Given the description of an element on the screen output the (x, y) to click on. 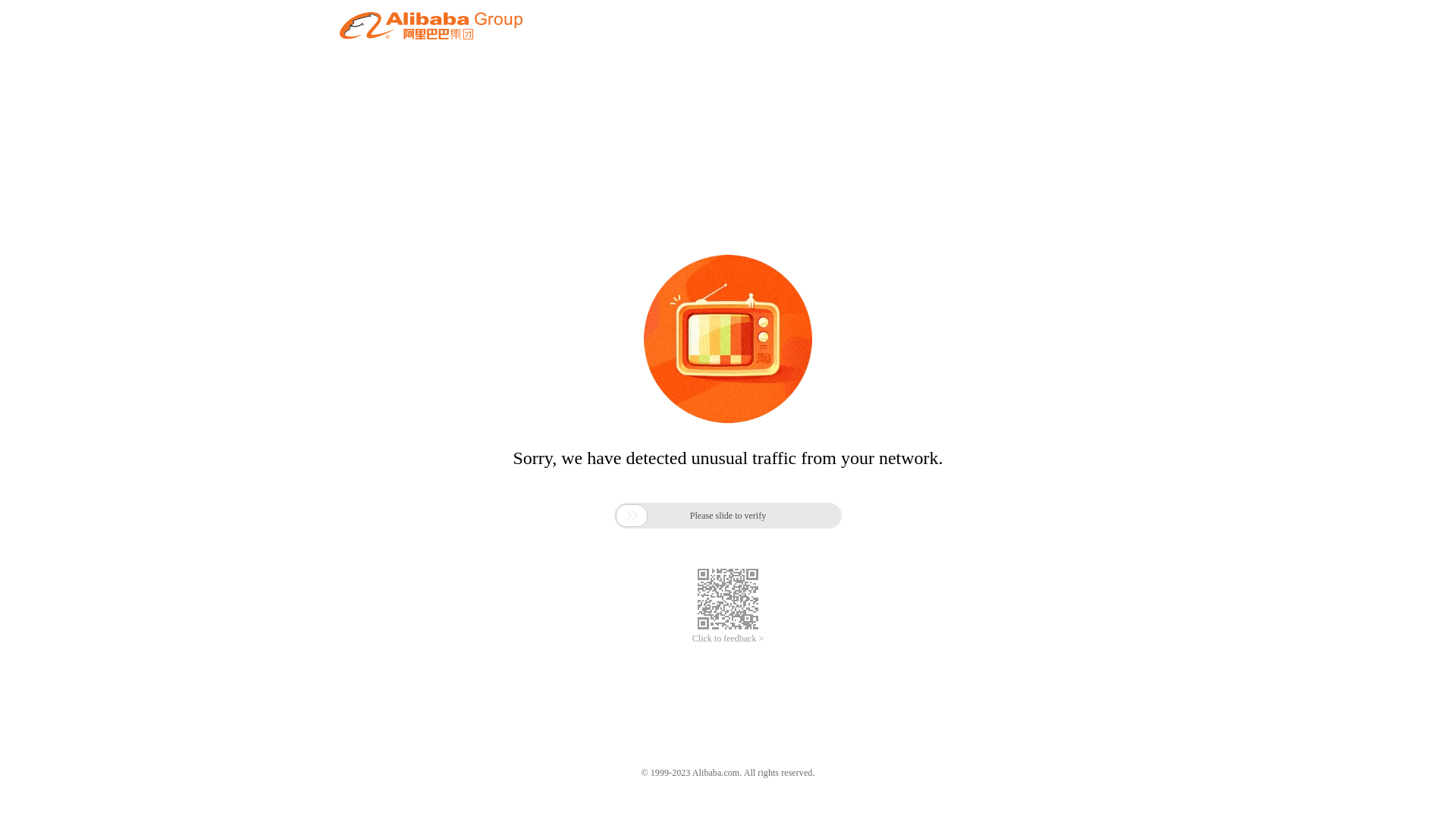
Click to feedback > Element type: text (727, 638)
